Given the description of an element on the screen output the (x, y) to click on. 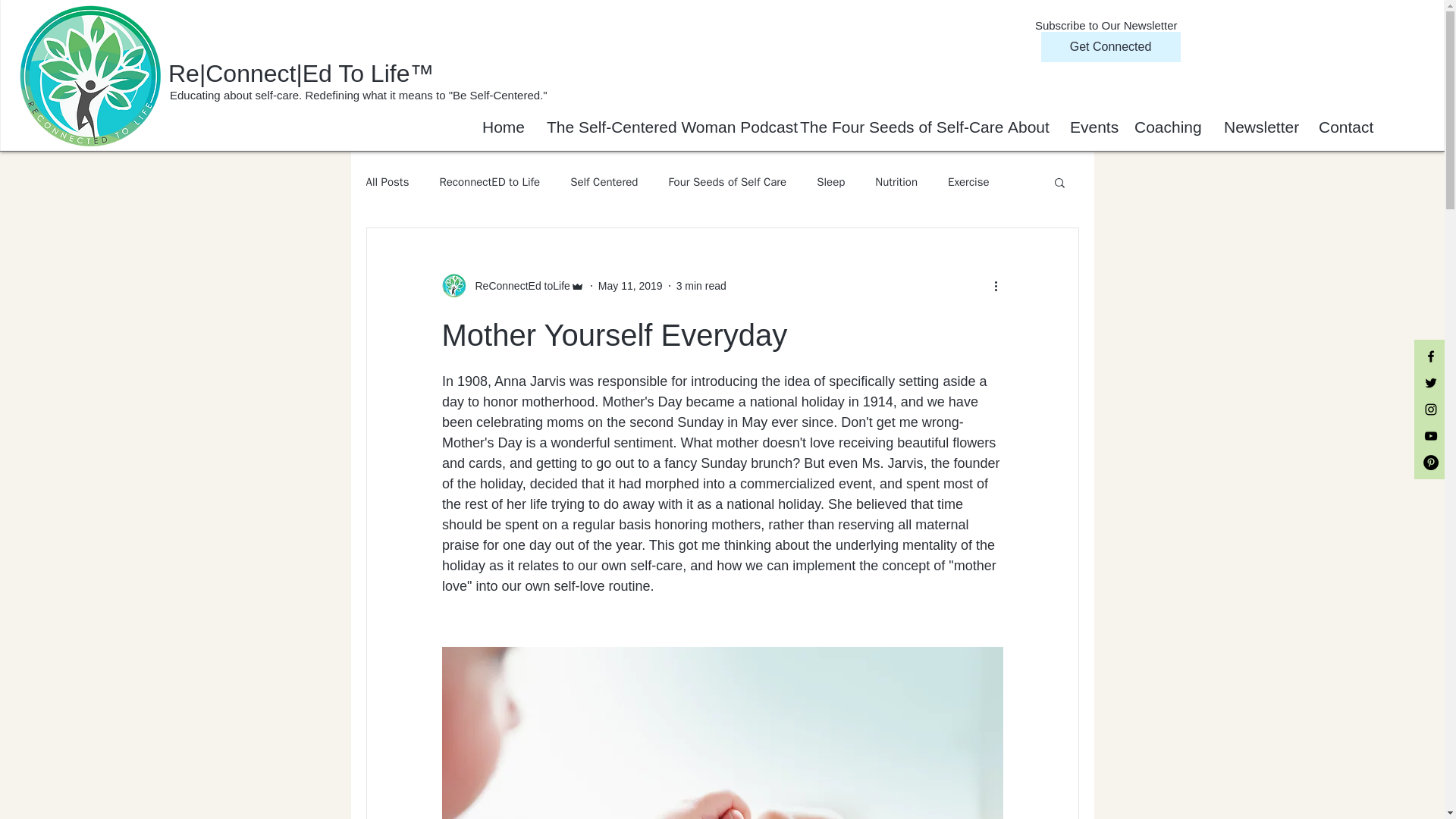
3 min read (701, 285)
Newsletter (1259, 127)
About (1026, 127)
Exercise (968, 181)
All Posts (387, 181)
May 11, 2019 (630, 285)
The Self-Centered Woman Podcast (662, 127)
Nutrition (896, 181)
ReconnectED to Life (489, 181)
ReConnectEd toLife (517, 285)
Contact (1344, 127)
Four Seeds of Self Care (727, 181)
Self Centered (603, 181)
Home (502, 127)
ReConnectEd toLife (512, 285)
